Given the description of an element on the screen output the (x, y) to click on. 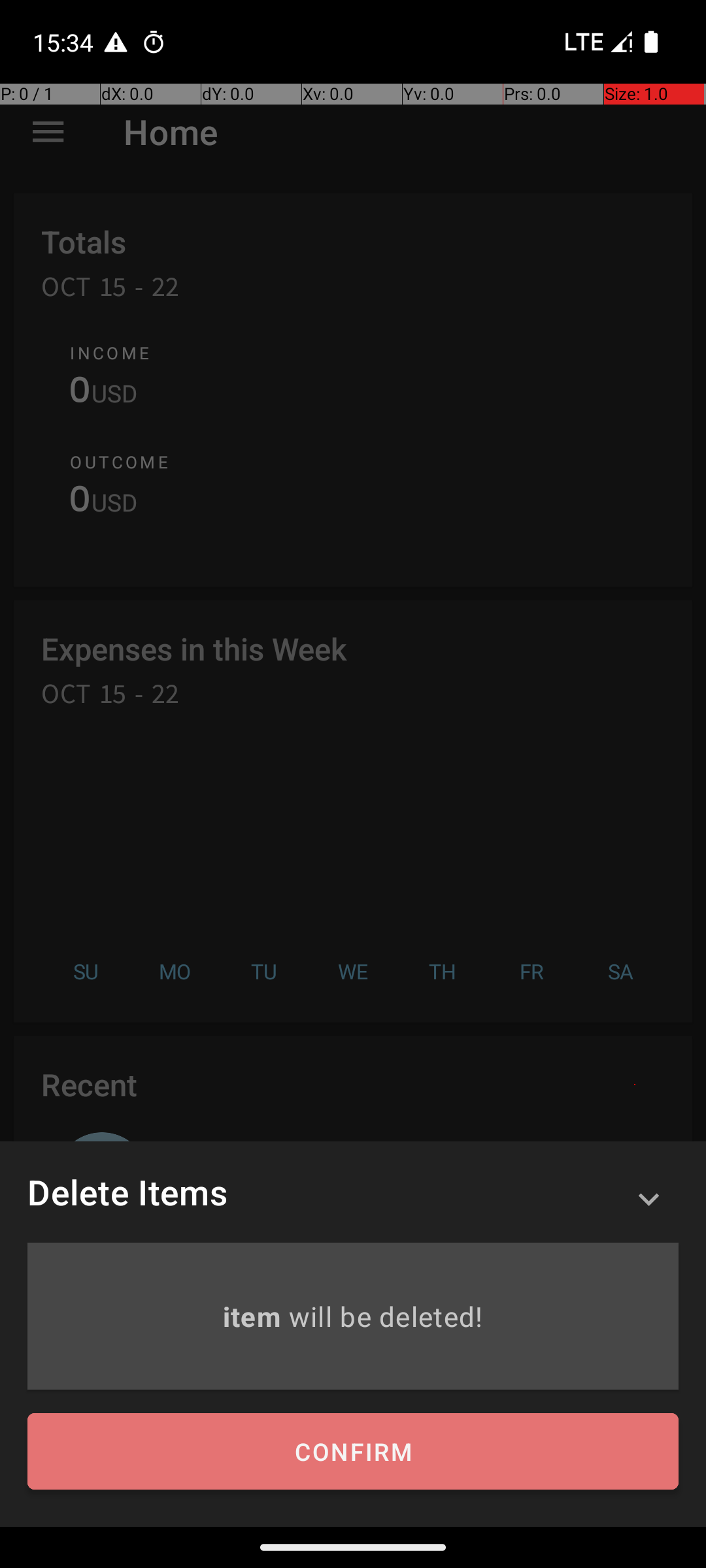
Delete Items Element type: android.widget.TextView (127, 1191)
item  Element type: android.widget.TextView (255, 1315)
will be deleted! Element type: android.widget.TextView (385, 1315)
CONFIRM Element type: android.widget.Button (352, 1451)
